Given the description of an element on the screen output the (x, y) to click on. 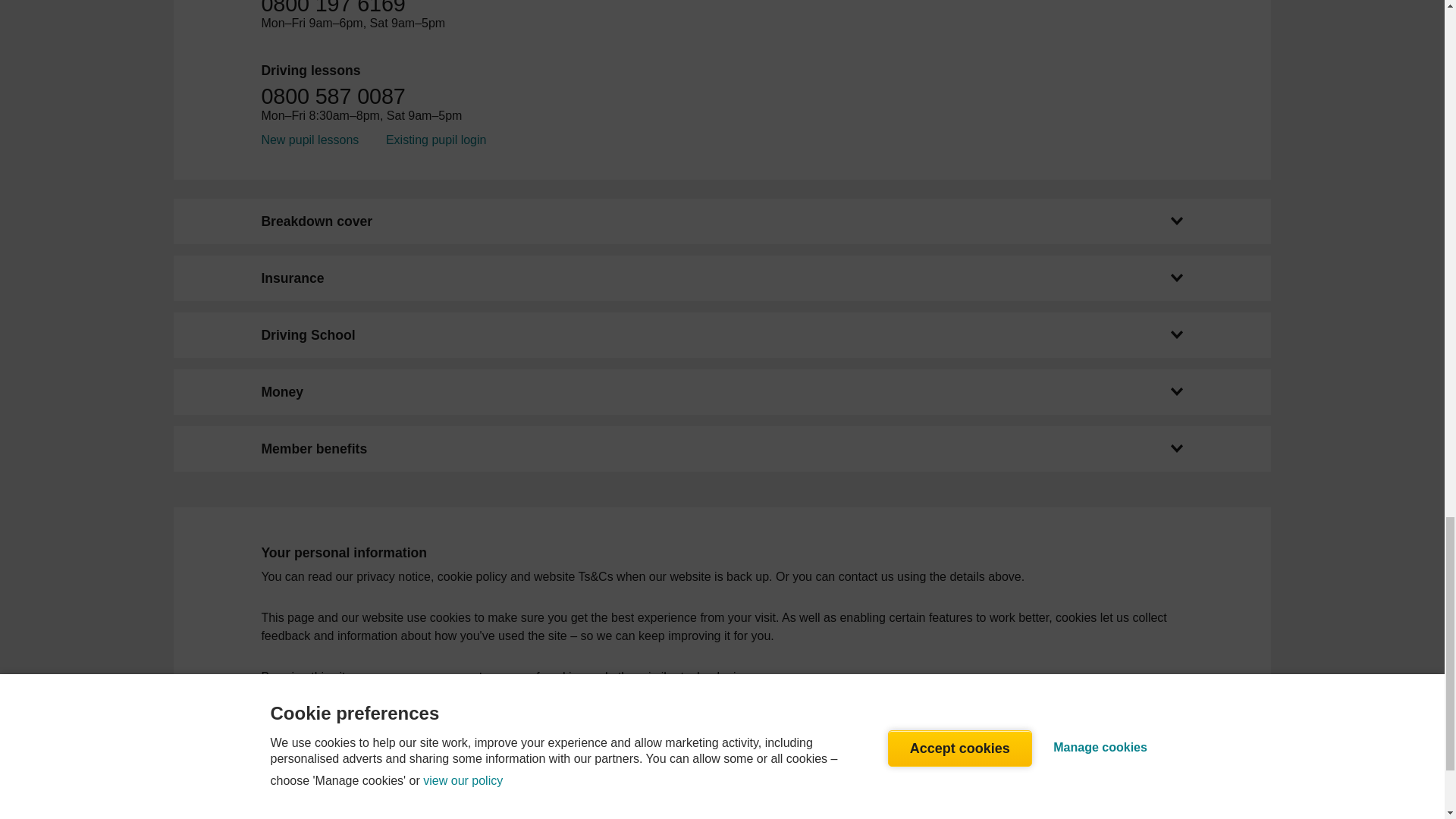
New pupil lessons (309, 140)
Existing pupil login (435, 140)
